Given the description of an element on the screen output the (x, y) to click on. 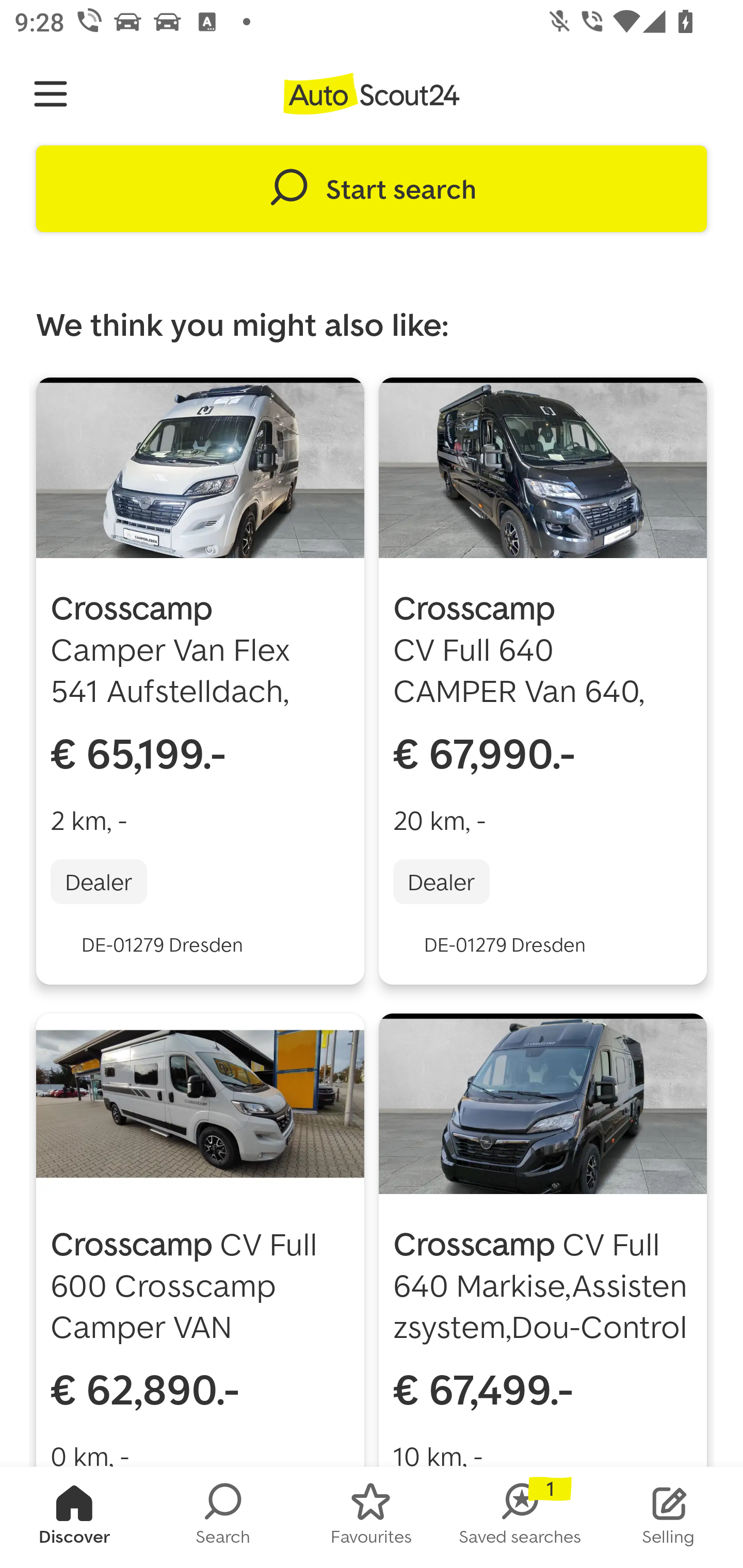
Navigate up (50, 93)
Start search (371, 188)
HOMESCREEN Discover (74, 1517)
SEARCH Search (222, 1517)
FAVORITES Favourites (371, 1517)
SAVED_SEARCHES Saved searches 1 (519, 1517)
STOCK_LIST Selling (668, 1517)
